Given the description of an element on the screen output the (x, y) to click on. 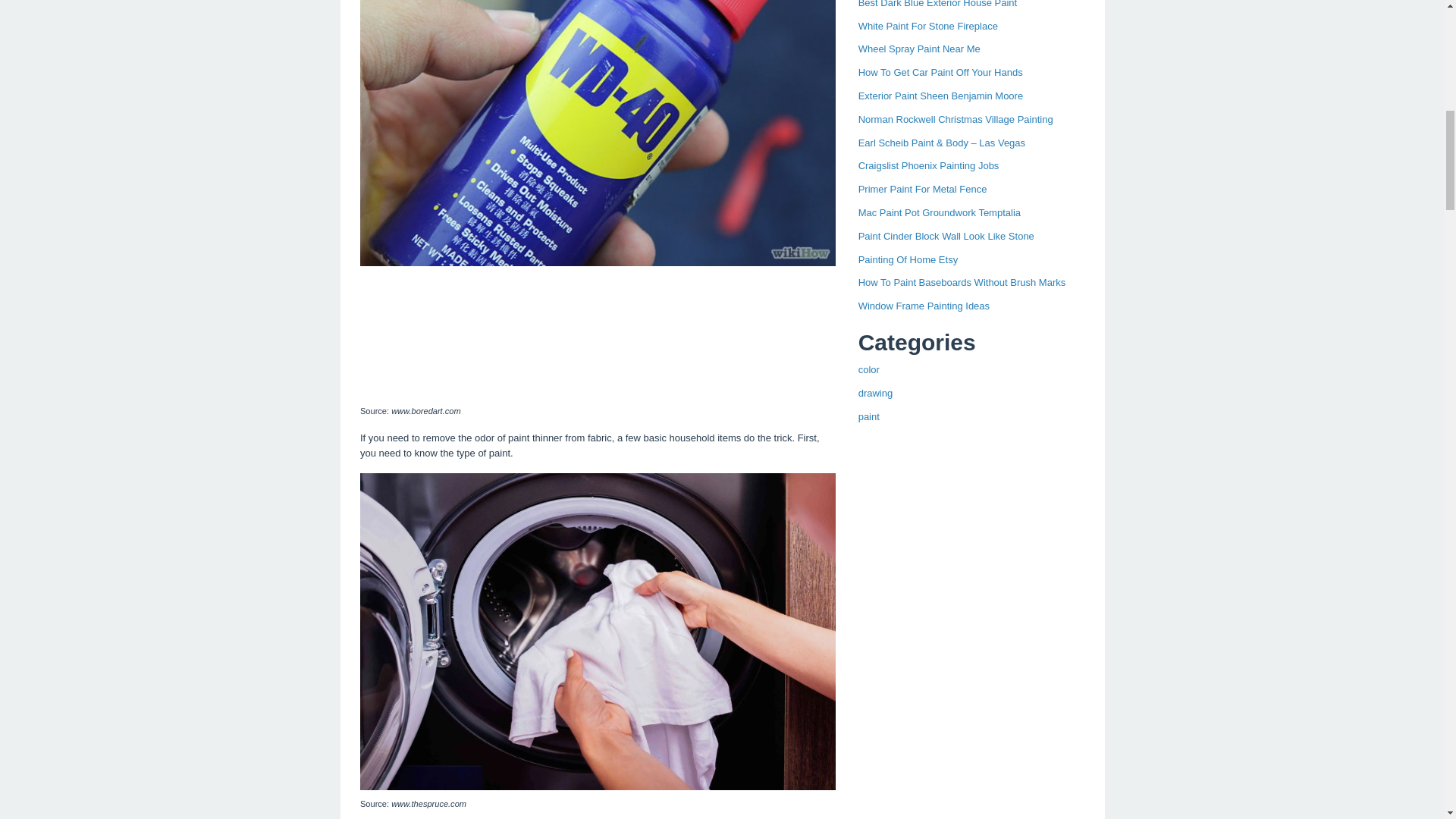
Primer Paint For Metal Fence (923, 188)
Best Dark Blue Exterior House Paint (938, 4)
Craigslist Phoenix Painting Jobs (928, 165)
Wheel Spray Paint Near Me (919, 48)
White Paint For Stone Fireplace (928, 25)
Norman Rockwell Christmas Village Painting (955, 119)
Mac Paint Pot Groundwork Temptalia (939, 212)
How To Get Car Paint Off Your Hands (941, 71)
Paint Cinder Block Wall Look Like Stone (946, 235)
Exterior Paint Sheen Benjamin Moore (941, 95)
